Given the description of an element on the screen output the (x, y) to click on. 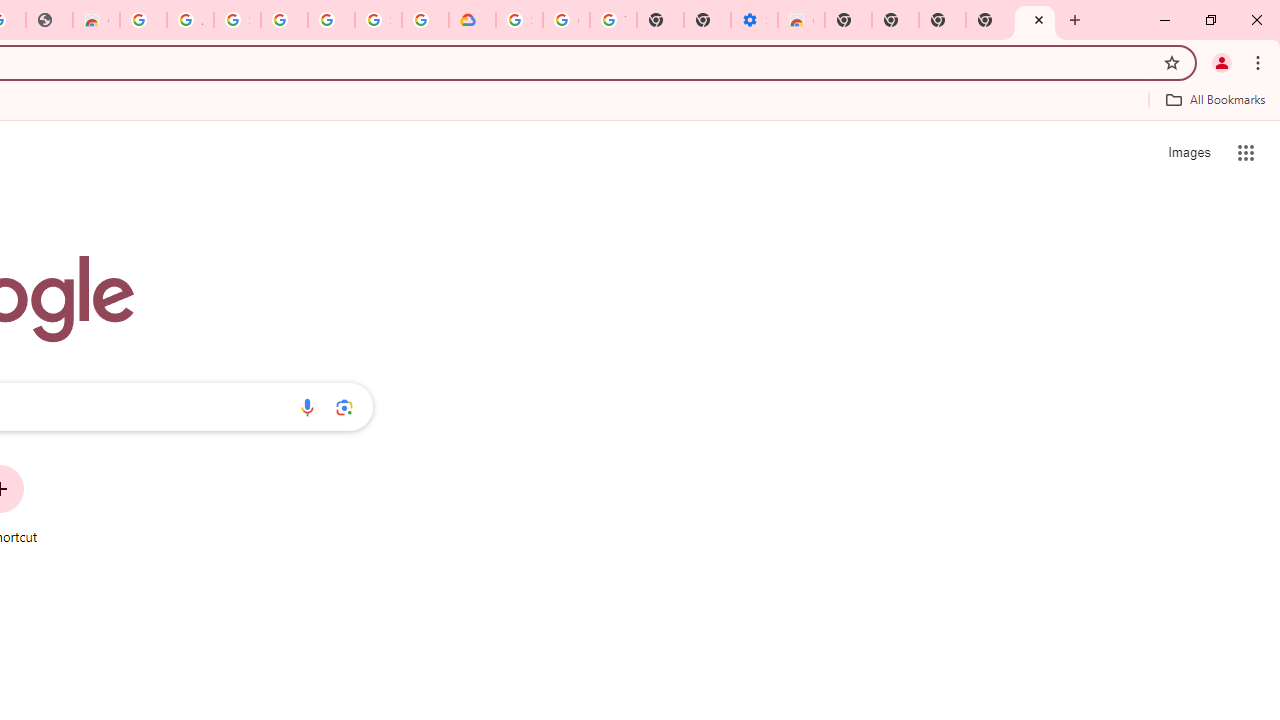
Sign in - Google Accounts (377, 20)
Settings - Accessibility (754, 20)
Sign in - Google Accounts (518, 20)
Chrome Web Store - Household (96, 20)
Turn cookies on or off - Computer - Google Account Help (613, 20)
